Given the description of an element on the screen output the (x, y) to click on. 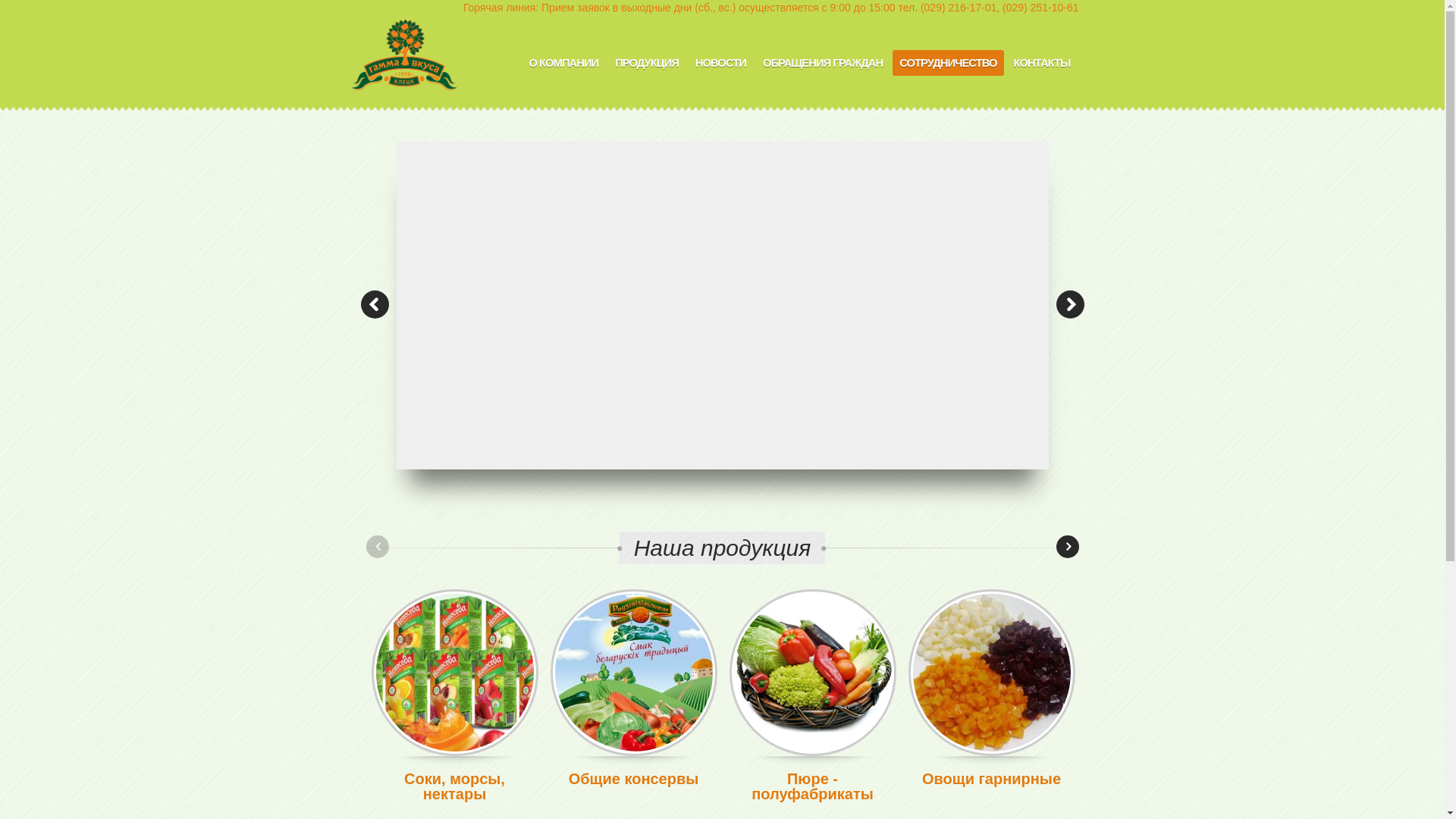
Previous Element type: text (374, 303)
Next Element type: text (1069, 303)
